Given the description of an element on the screen output the (x, y) to click on. 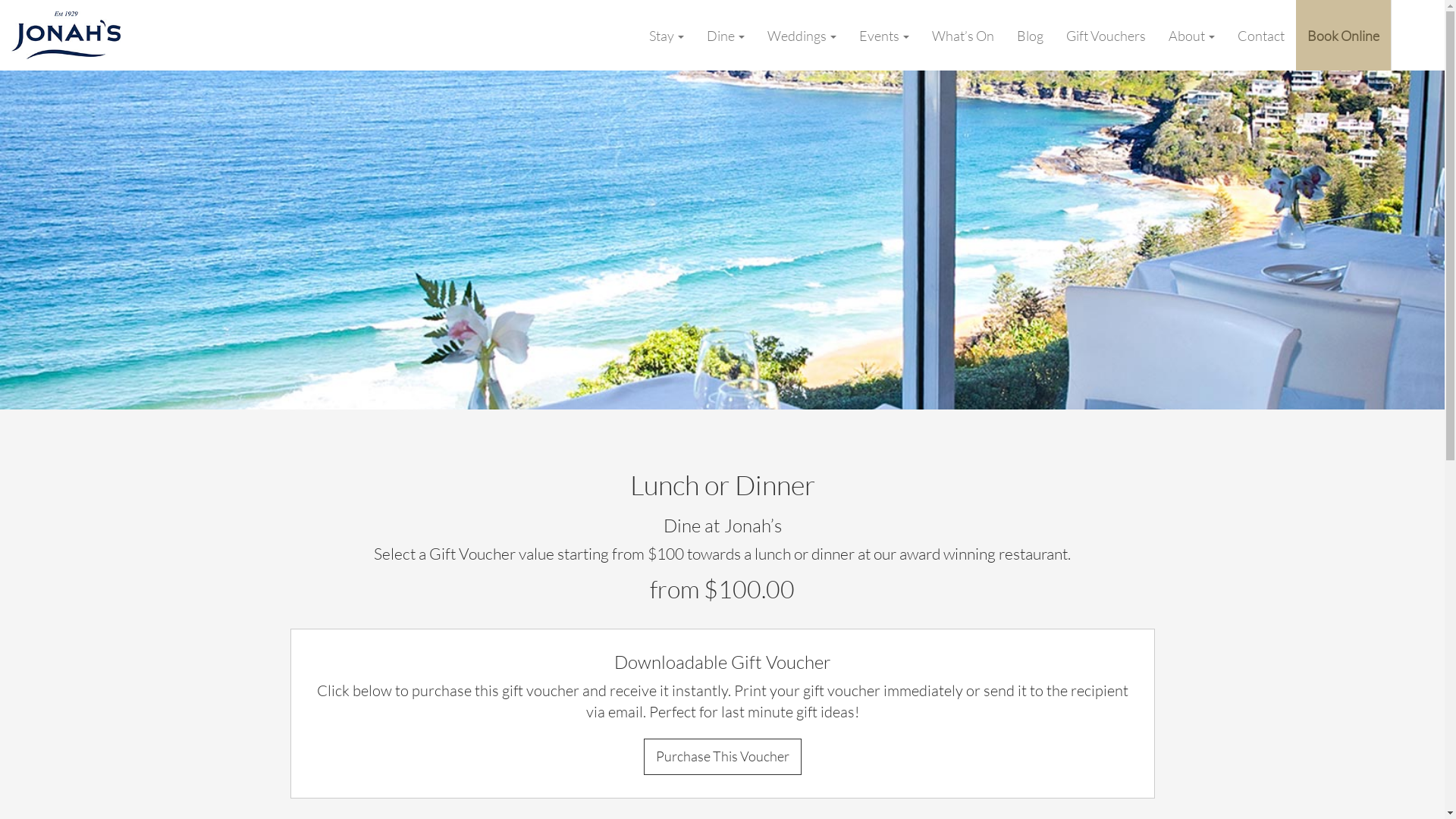
Find us on Facebook Element type: hover (1425, 34)
Dine Element type: text (725, 35)
Gift Vouchers Element type: text (1105, 35)
Stay Element type: text (666, 35)
Book Online Element type: text (1342, 35)
Contact Element type: text (1260, 35)
Purchase This Voucher Element type: text (721, 756)
Events Element type: text (883, 35)
Weddings Element type: text (801, 35)
About Element type: text (1191, 35)
Blog Element type: text (1029, 35)
